Given the description of an element on the screen output the (x, y) to click on. 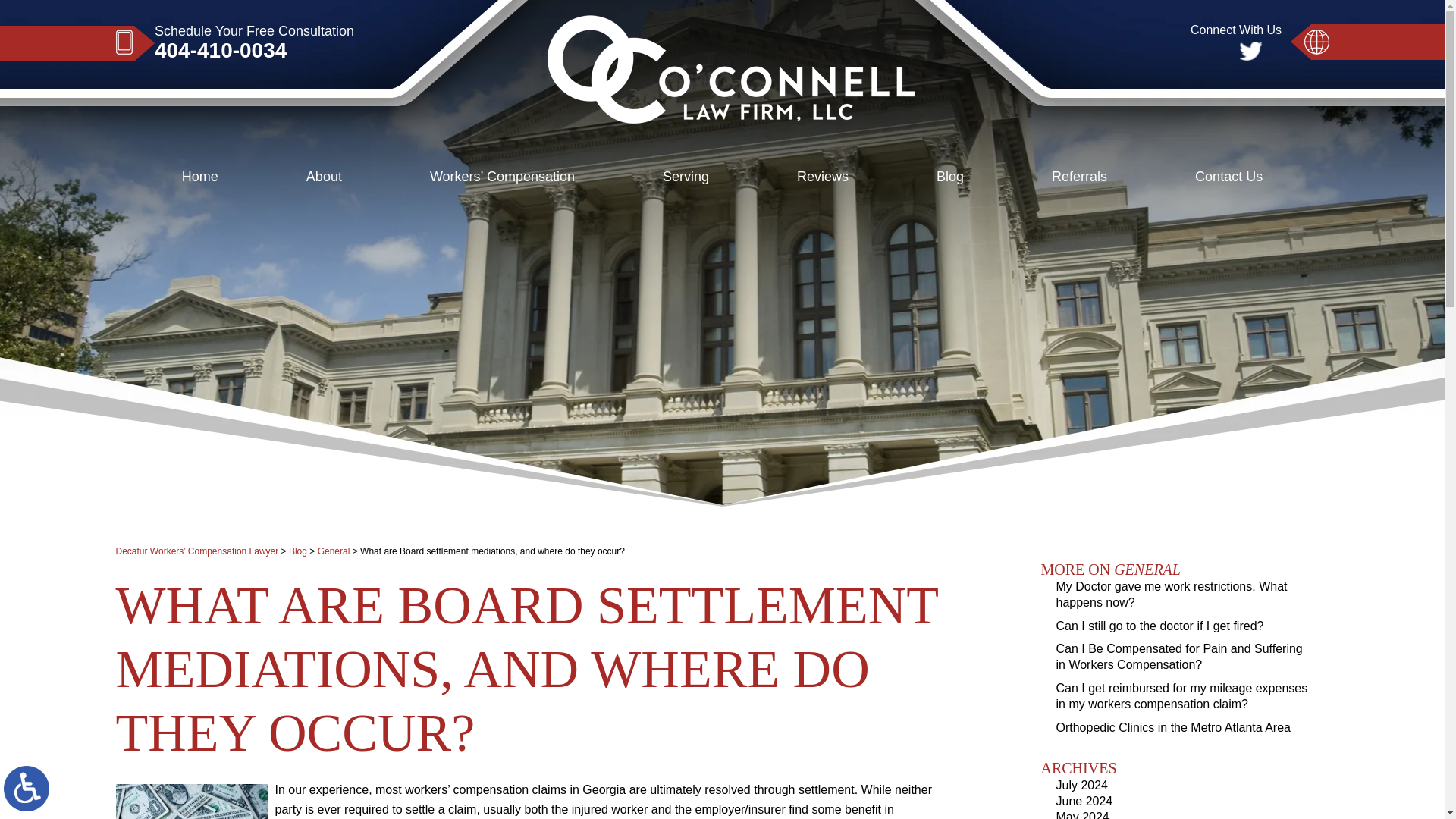
Blog (297, 551)
money picture (190, 801)
About (323, 176)
Reviews (822, 176)
Referrals (1079, 176)
404-410-0034 (253, 50)
Home (199, 176)
Switch to ADA Accessible Website (26, 788)
General (333, 551)
Contact Us (1228, 176)
Serving (685, 176)
Blog (949, 176)
